Given the description of an element on the screen output the (x, y) to click on. 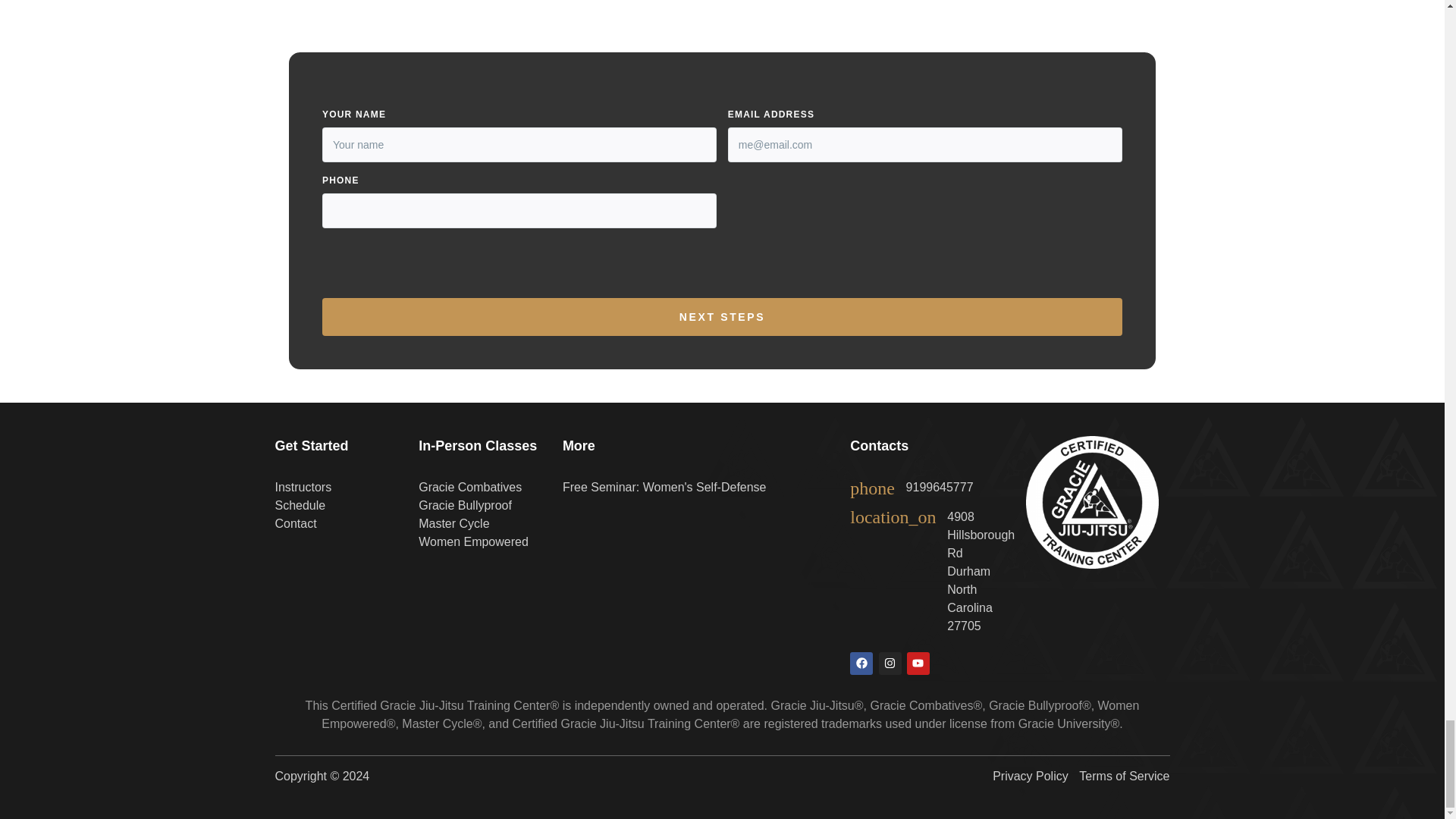
Contact (295, 522)
Women Empowered (473, 541)
NEXT STEPS (721, 316)
Privacy Policy (1030, 776)
Master Cycle (454, 522)
Instructors (303, 486)
Schedule (299, 504)
Women Empowered (473, 541)
Gracie Bullyproof (465, 504)
Gracie Combatives (470, 486)
